Given the description of an element on the screen output the (x, y) to click on. 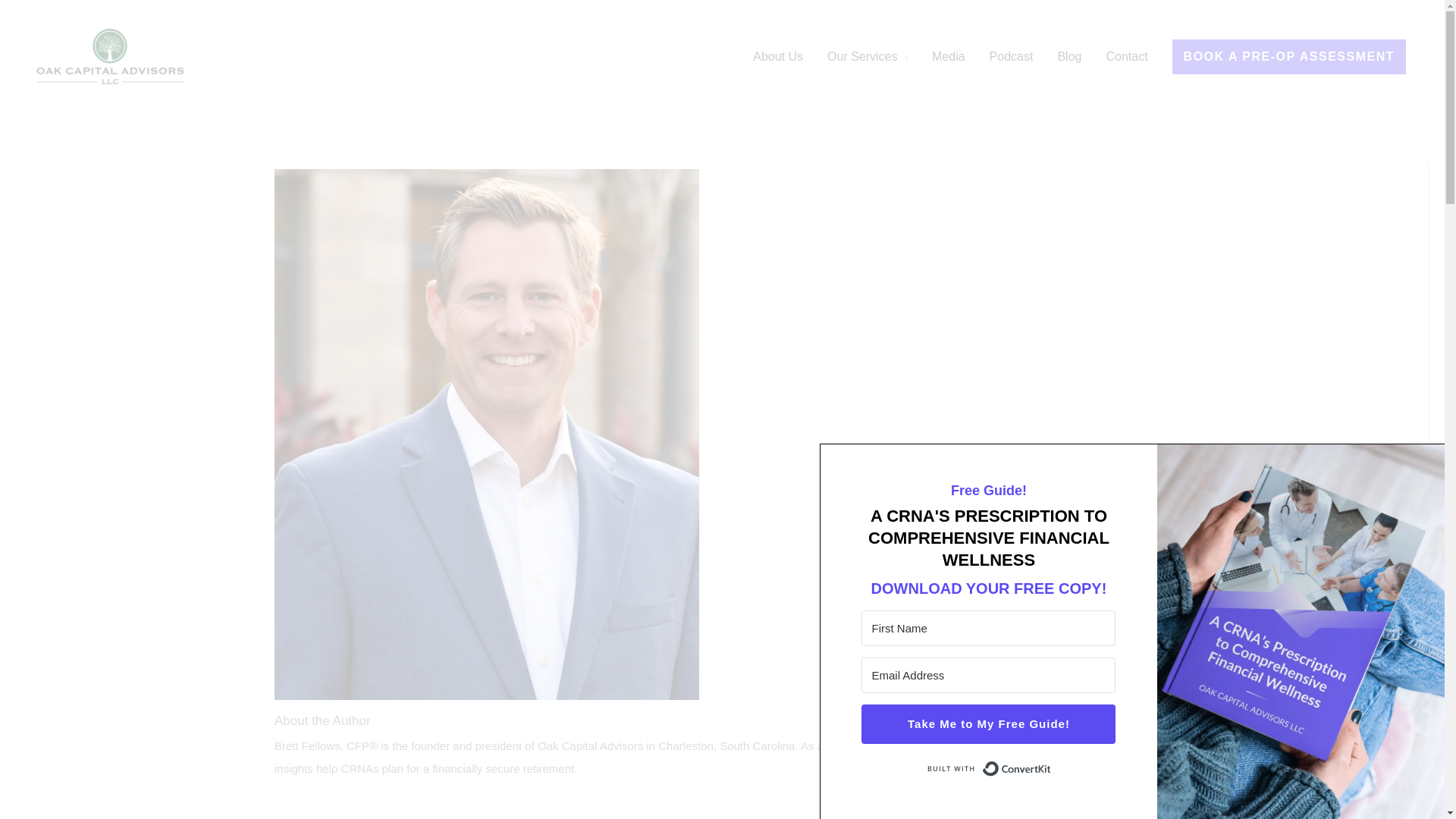
Blog (1069, 55)
Our Services (867, 55)
Media (948, 55)
Podcast (1010, 55)
Contact (1125, 55)
About Us (778, 55)
BOOK A PRE-OP ASSESSMENT (1289, 56)
